Given the description of an element on the screen output the (x, y) to click on. 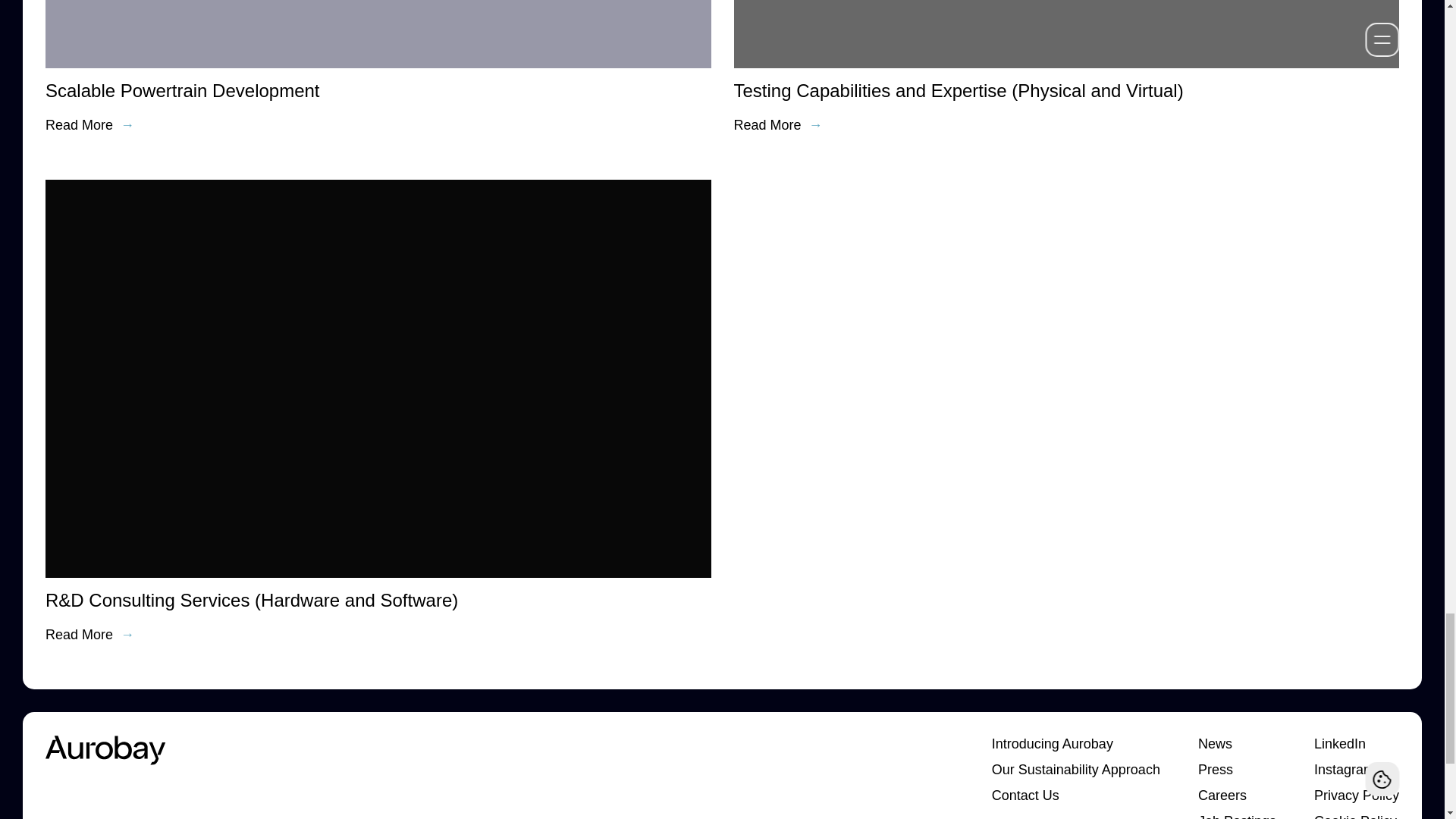
Cookie Policy (1356, 815)
Contact Us (1075, 795)
Careers (1237, 795)
Scalable Powertrain Development (182, 125)
Introducing Aurobay (1075, 743)
Scalable Powertrain Development (182, 90)
Privacy Policy (1356, 795)
LinkedIn (1356, 743)
Introducing Aurobay (1075, 743)
Press (1237, 769)
Our Sustainability Approach (1075, 769)
Our Sustainability Approach (1075, 769)
News (1237, 743)
Job Postings (1237, 815)
Scalable Powertrain Development (182, 90)
